Given the description of an element on the screen output the (x, y) to click on. 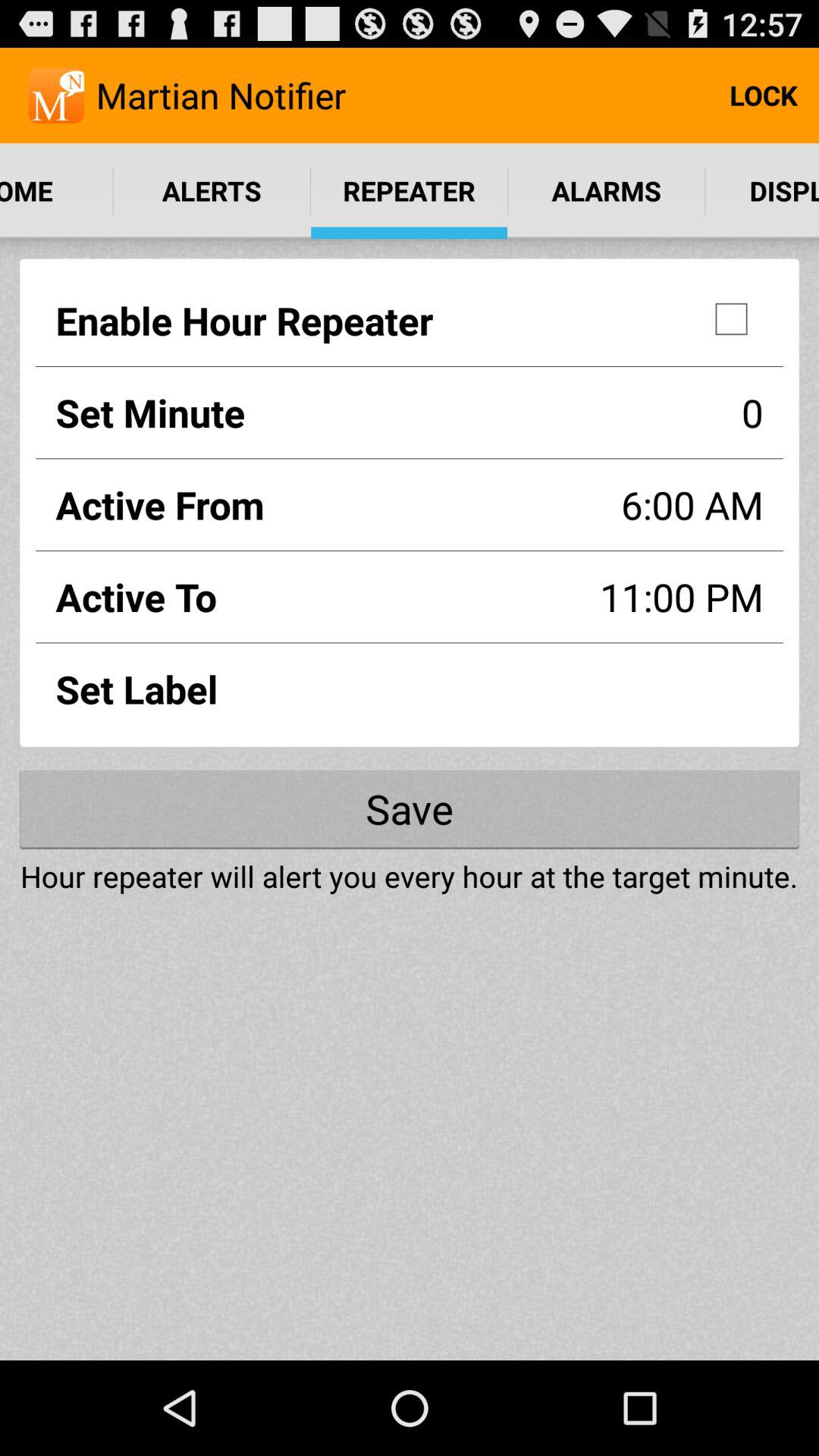
jump to the save icon (409, 808)
